Given the description of an element on the screen output the (x, y) to click on. 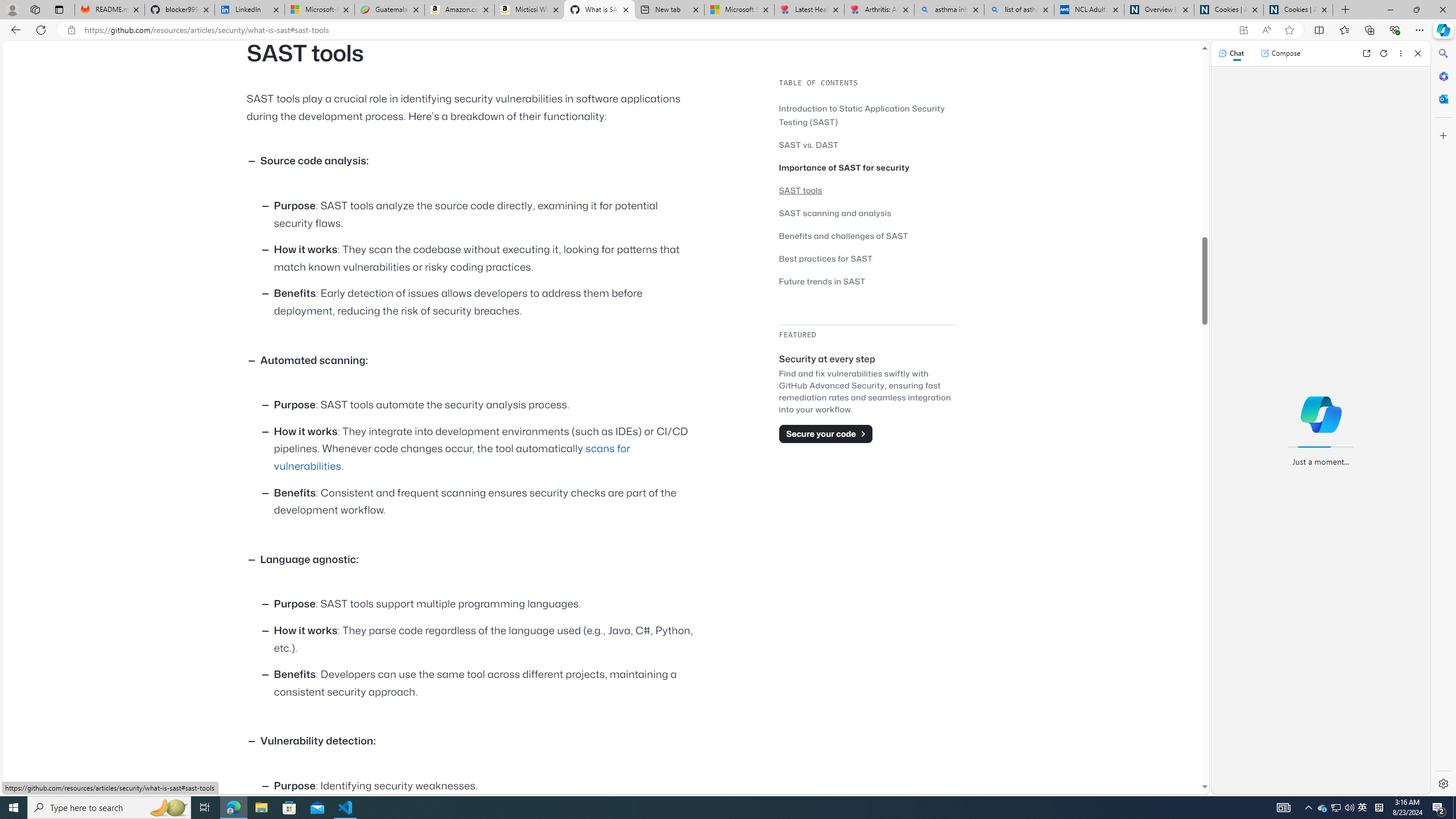
App available. Install GitHub (1243, 29)
SAST tools (867, 190)
Future trends in SAST (822, 280)
Purpose: SAST tools automate the security analysis process. (485, 405)
